Given the description of an element on the screen output the (x, y) to click on. 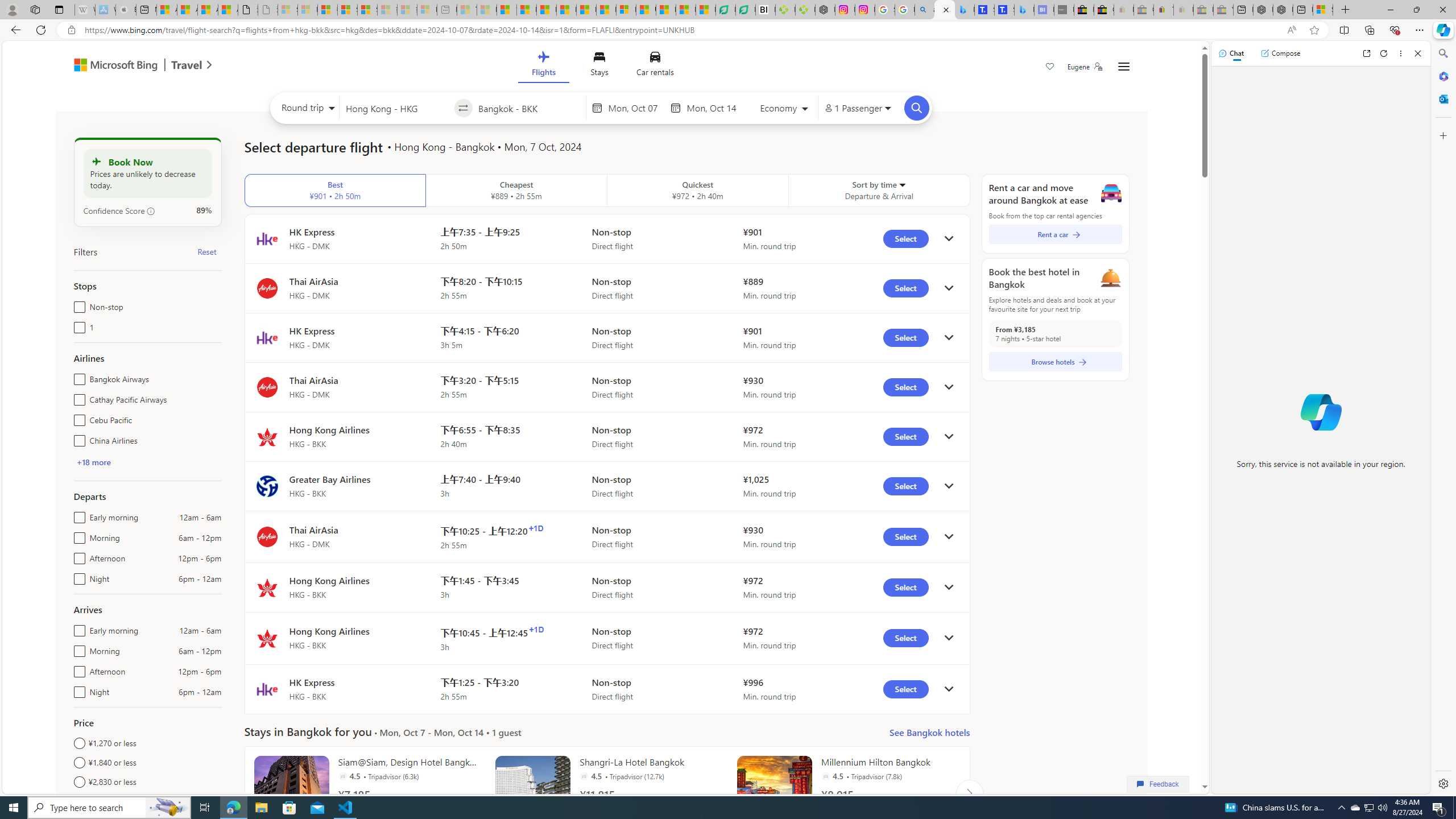
Click to scroll right (968, 792)
Sign in to your Microsoft account (1322, 9)
Car rentals (654, 65)
Nordace - Summer Adventures 2024 (1282, 9)
Compose (1280, 52)
Threats and offensive language policy | eBay (1162, 9)
Nordace - Nordace Edin Collection (825, 9)
